Given the description of an element on the screen output the (x, y) to click on. 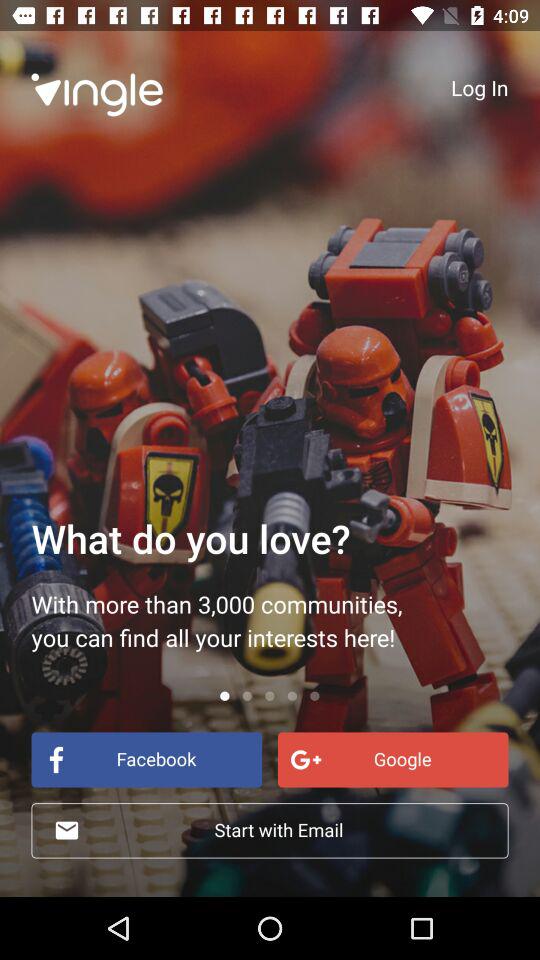
choose facebook icon (146, 759)
